Given the description of an element on the screen output the (x, y) to click on. 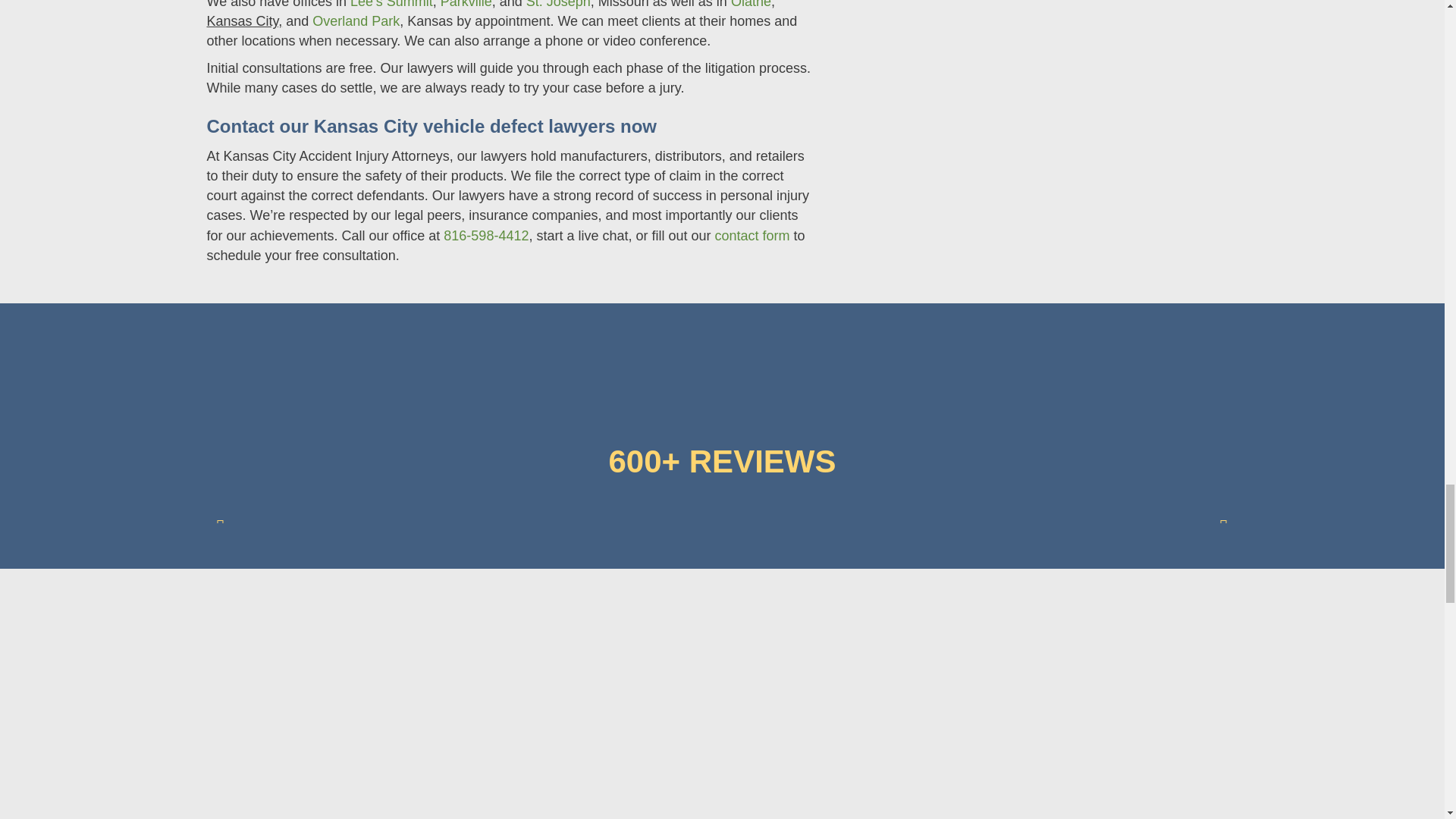
burn injury lawyer Lee's Summit, MO (1040, 84)
5-Star-Google-reviews (722, 382)
